Given the description of an element on the screen output the (x, y) to click on. 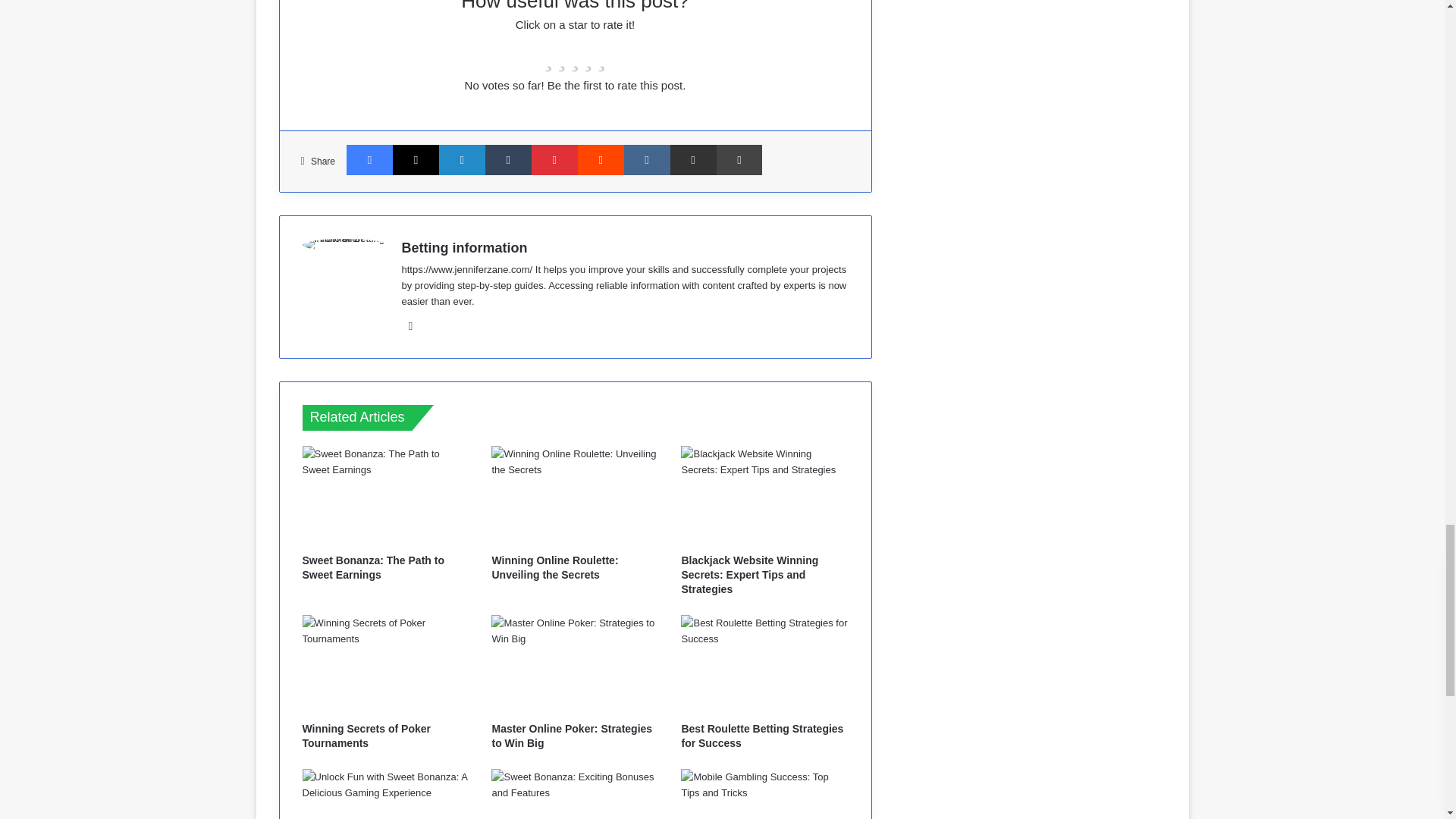
VKontakte (646, 159)
Betting information (464, 247)
Pinterest (554, 159)
Tumblr (507, 159)
X (416, 159)
LinkedIn (461, 159)
Reddit (601, 159)
Facebook (369, 159)
Website (410, 325)
Share via Email (692, 159)
